Given the description of an element on the screen output the (x, y) to click on. 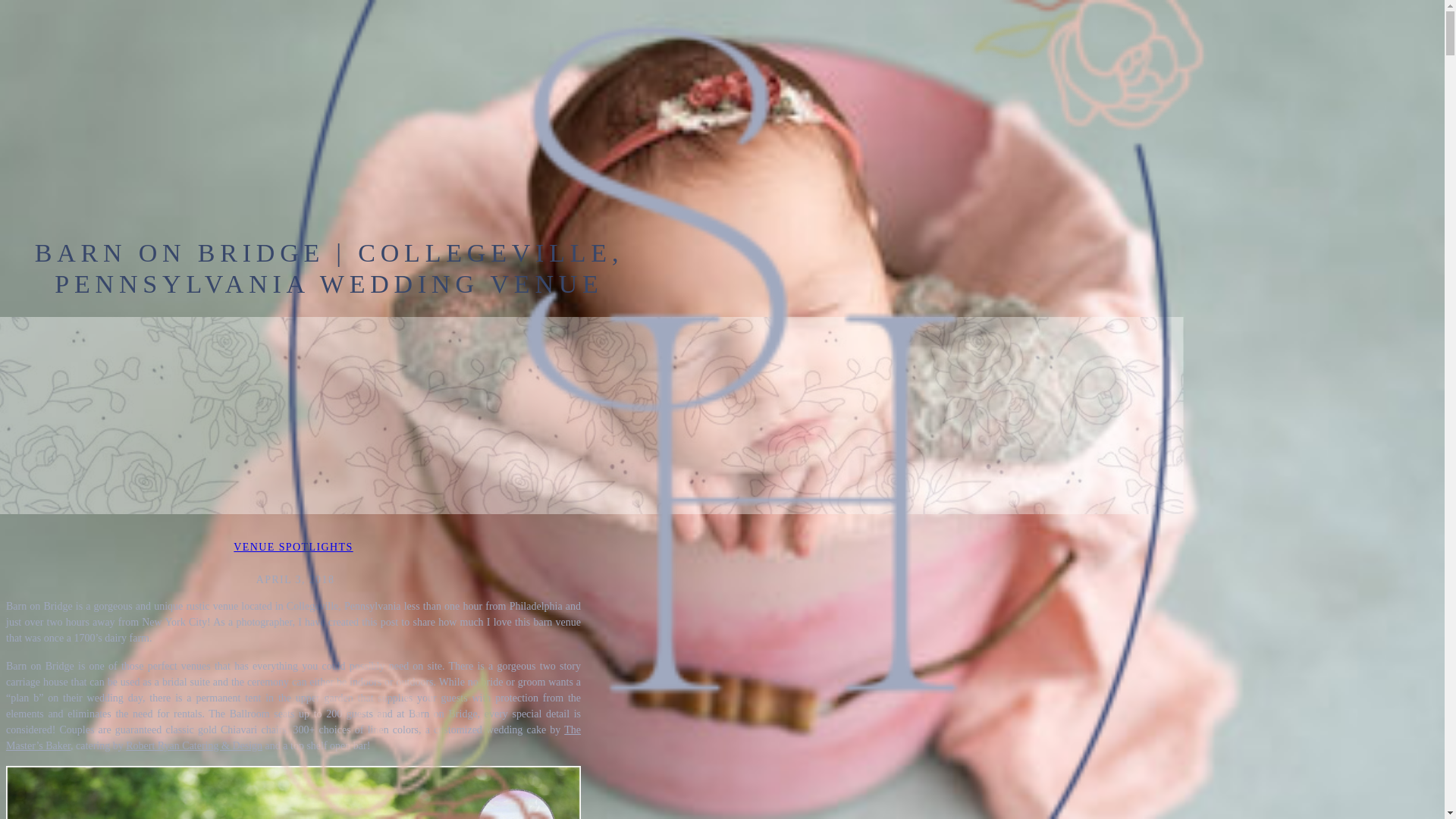
II. WEDDINGS (460, 51)
IV. ABOUT (460, 112)
VENUE SPOTLIGHTS (292, 546)
V. BLOG (460, 142)
VI. CONTACT (460, 172)
III. FAMILIES (460, 81)
I. HOME (460, 21)
